Given the description of an element on the screen output the (x, y) to click on. 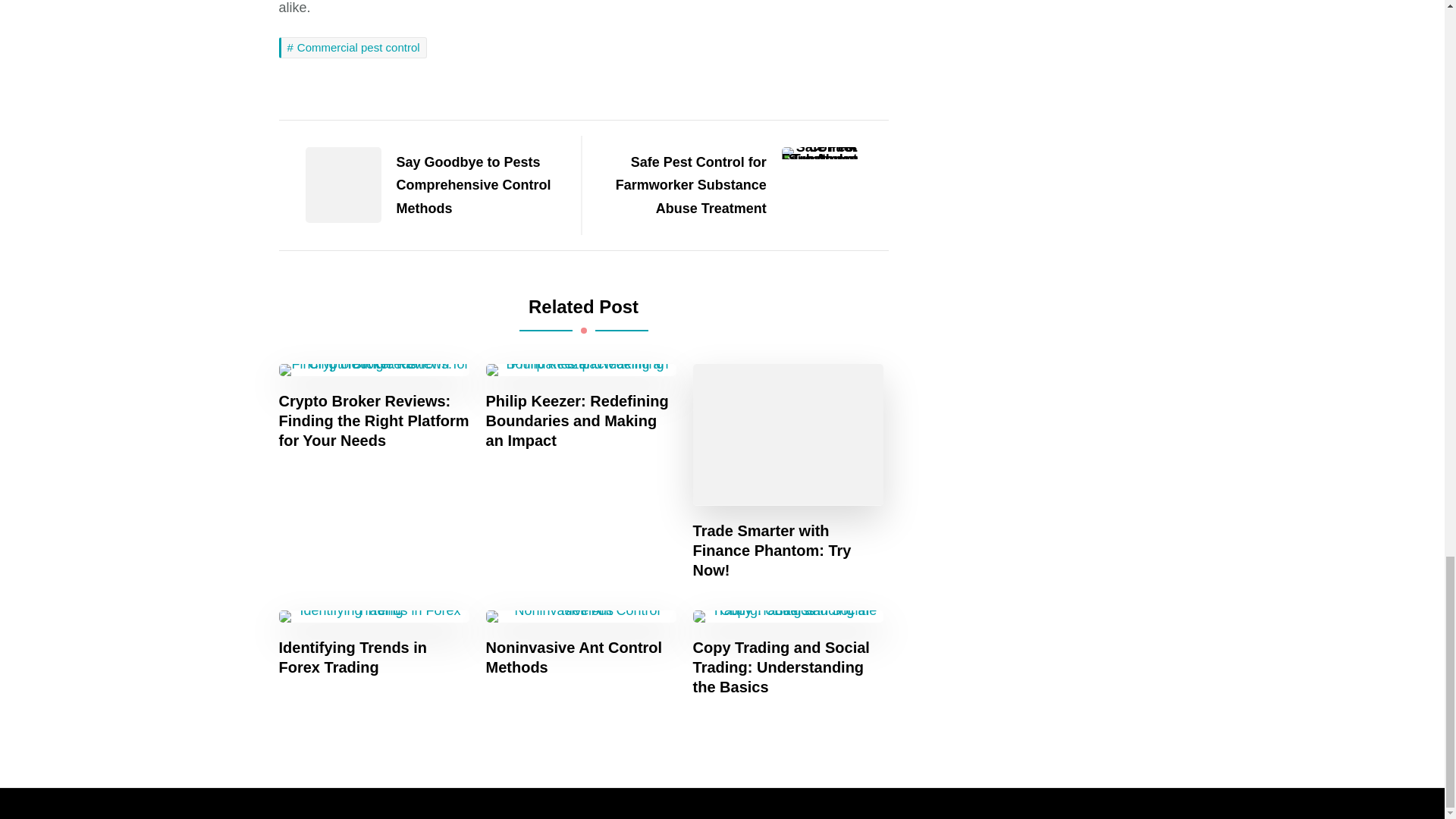
Say Goodbye to Pests Comprehensive Control Methods (421, 185)
Commercial pest control (352, 47)
Safe Pest Control for Farmworker Substance Abuse Treatment (740, 185)
